Given the description of an element on the screen output the (x, y) to click on. 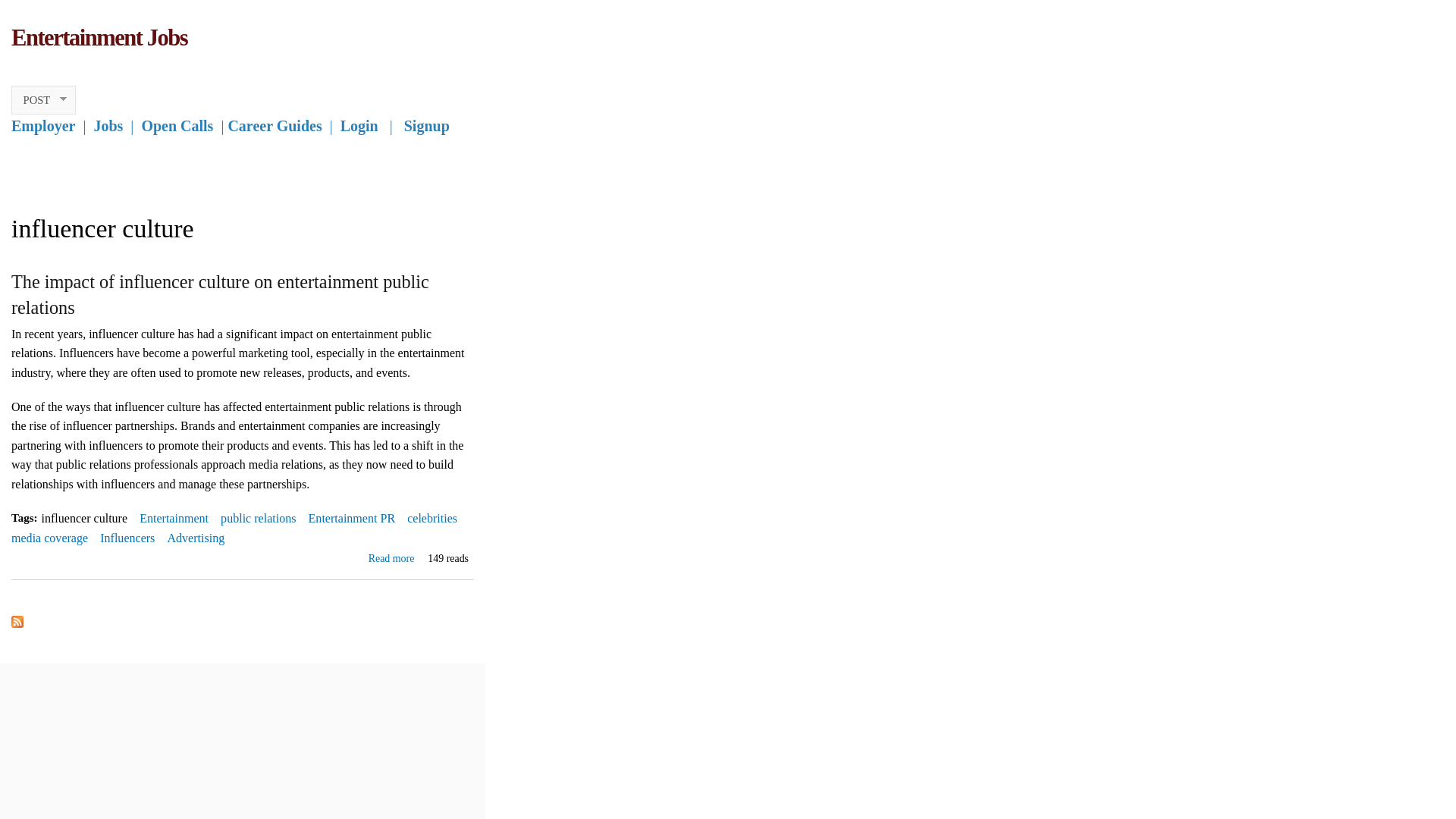
Entertainment (173, 512)
Entertainment PR (352, 512)
Jobs (107, 125)
Signup (426, 125)
Home (99, 37)
Advertising (195, 532)
Career Guides (274, 125)
media coverage (49, 532)
celebrities (432, 512)
